Given the description of an element on the screen output the (x, y) to click on. 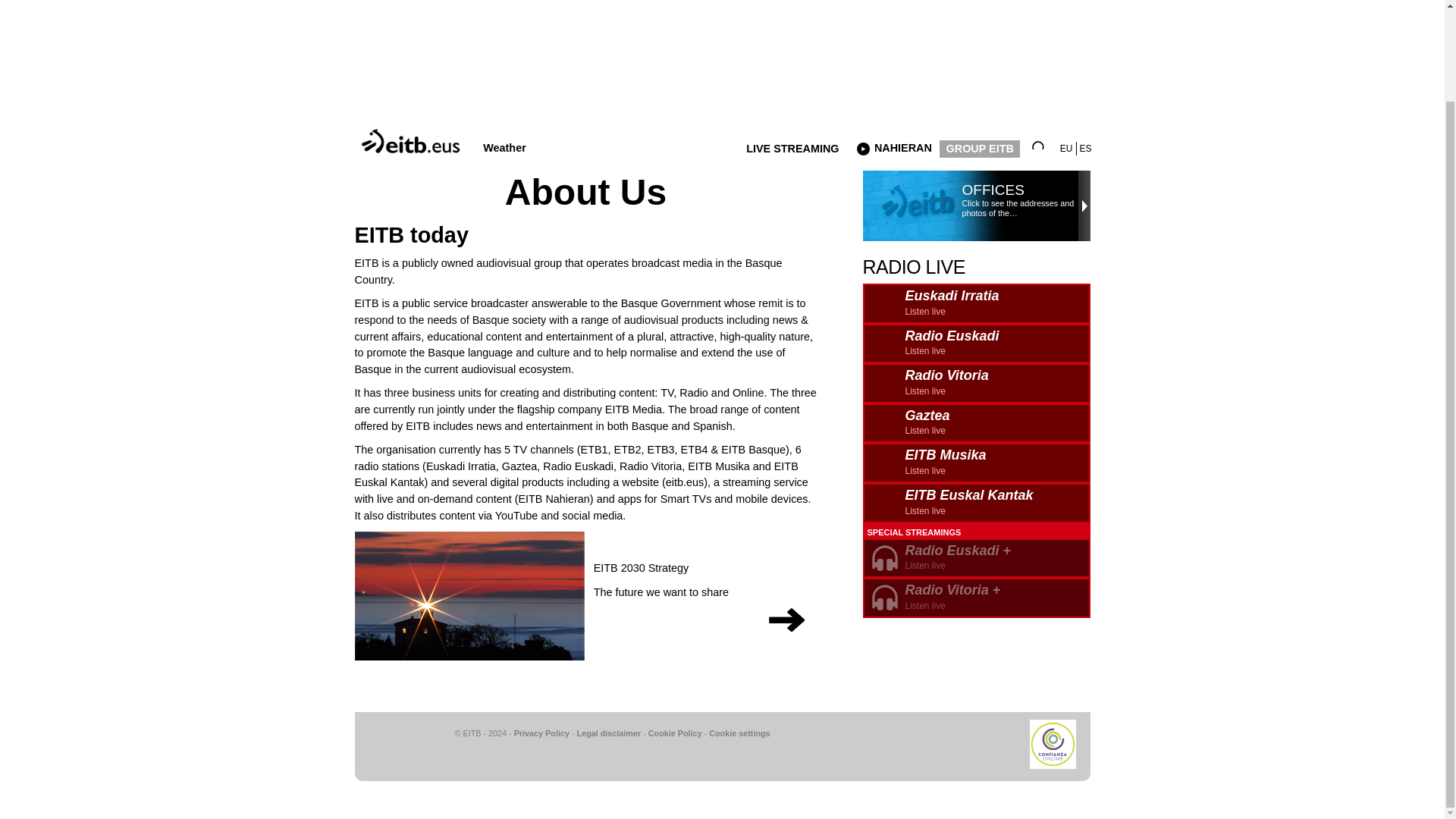
ES (1086, 148)
EITB Euskal Irrati Telebista (412, 132)
Legal disclaimer (609, 732)
EITB 2030 Strategy (641, 572)
GROUP EITB (976, 343)
Bilatu (979, 149)
Offices (976, 423)
Cookie settings (1043, 145)
